Given the description of an element on the screen output the (x, y) to click on. 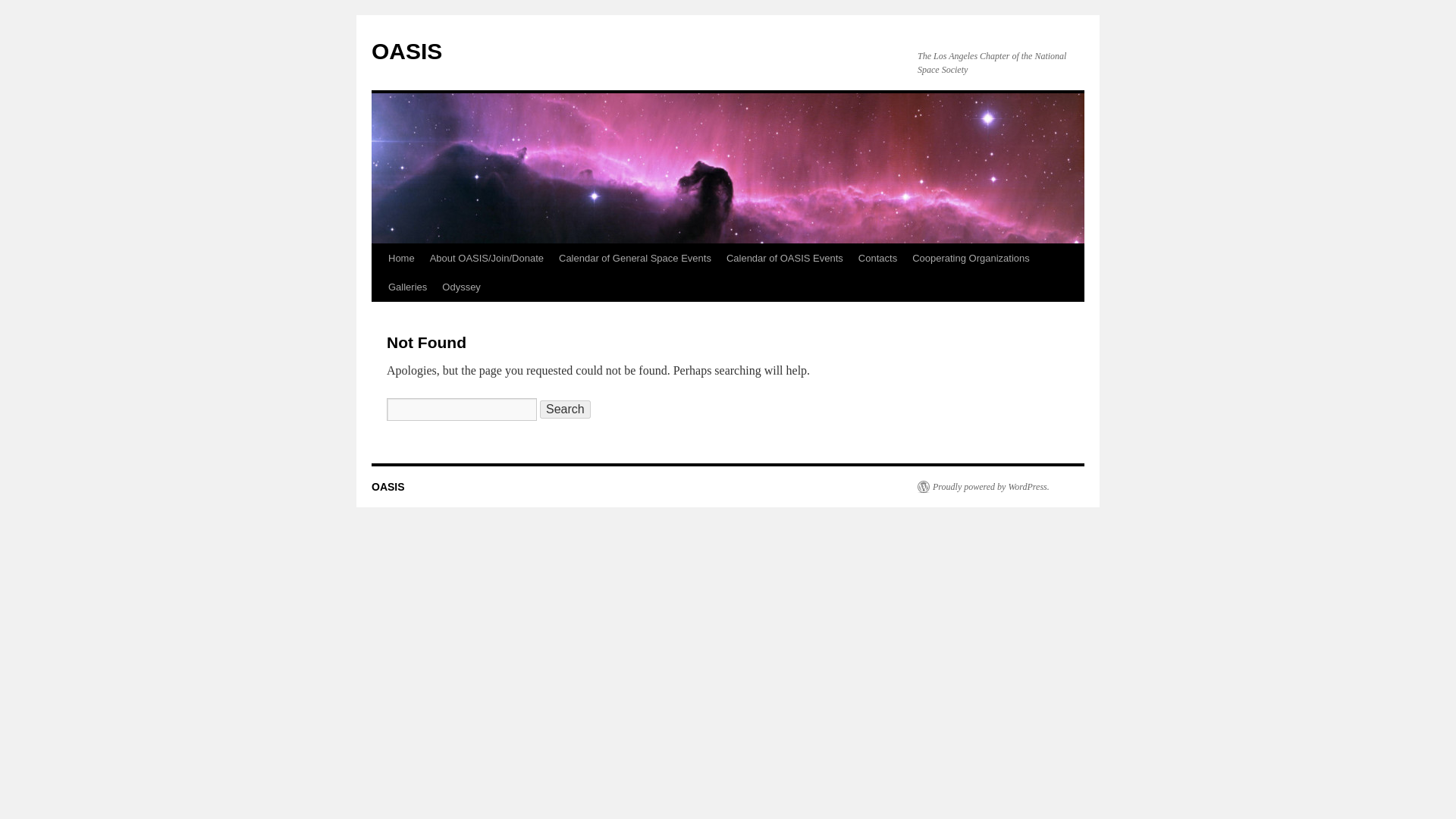
Galleries (406, 287)
Odyssey (460, 287)
Cooperating Organizations (970, 258)
Contacts (877, 258)
Search (565, 409)
OASIS (406, 50)
Calendar of OASIS Events (784, 258)
Search (565, 409)
Home (401, 258)
Calendar of General Space Events (635, 258)
